Given the description of an element on the screen output the (x, y) to click on. 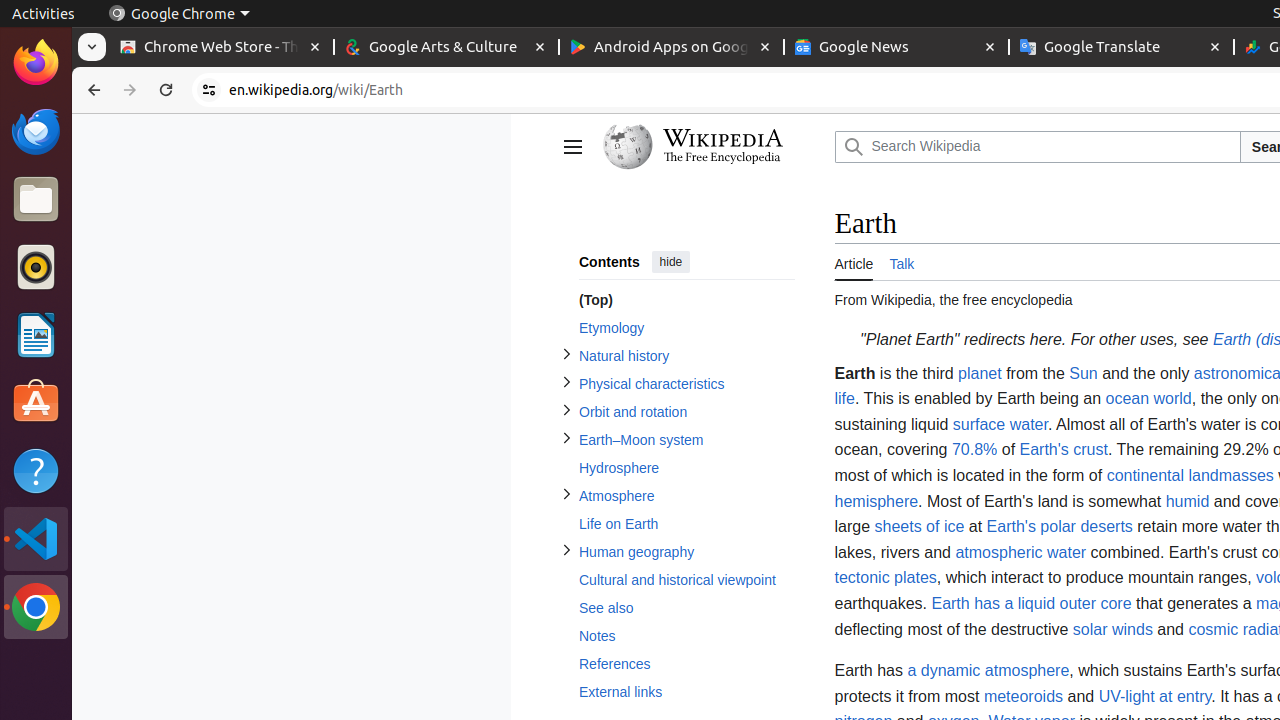
Visual Studio Code Element type: push-button (36, 538)
Earth's polar Element type: link (1031, 527)
Talk Element type: link (902, 262)
Toggle Natural history subsection Element type: push-button (566, 354)
View site information Element type: push-button (209, 90)
